Given the description of an element on the screen output the (x, y) to click on. 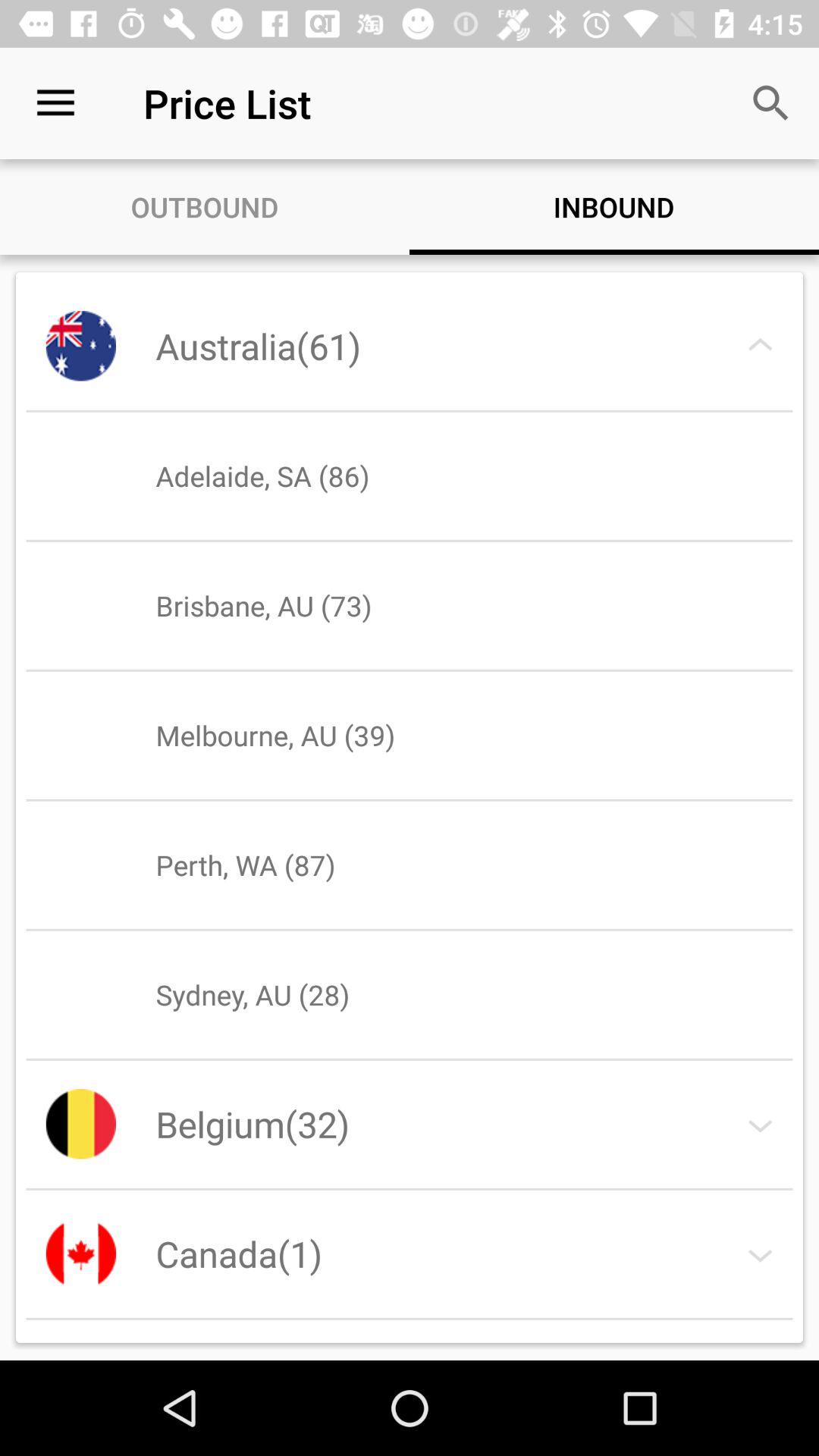
tap the item to the left of price list icon (55, 103)
